Given the description of an element on the screen output the (x, y) to click on. 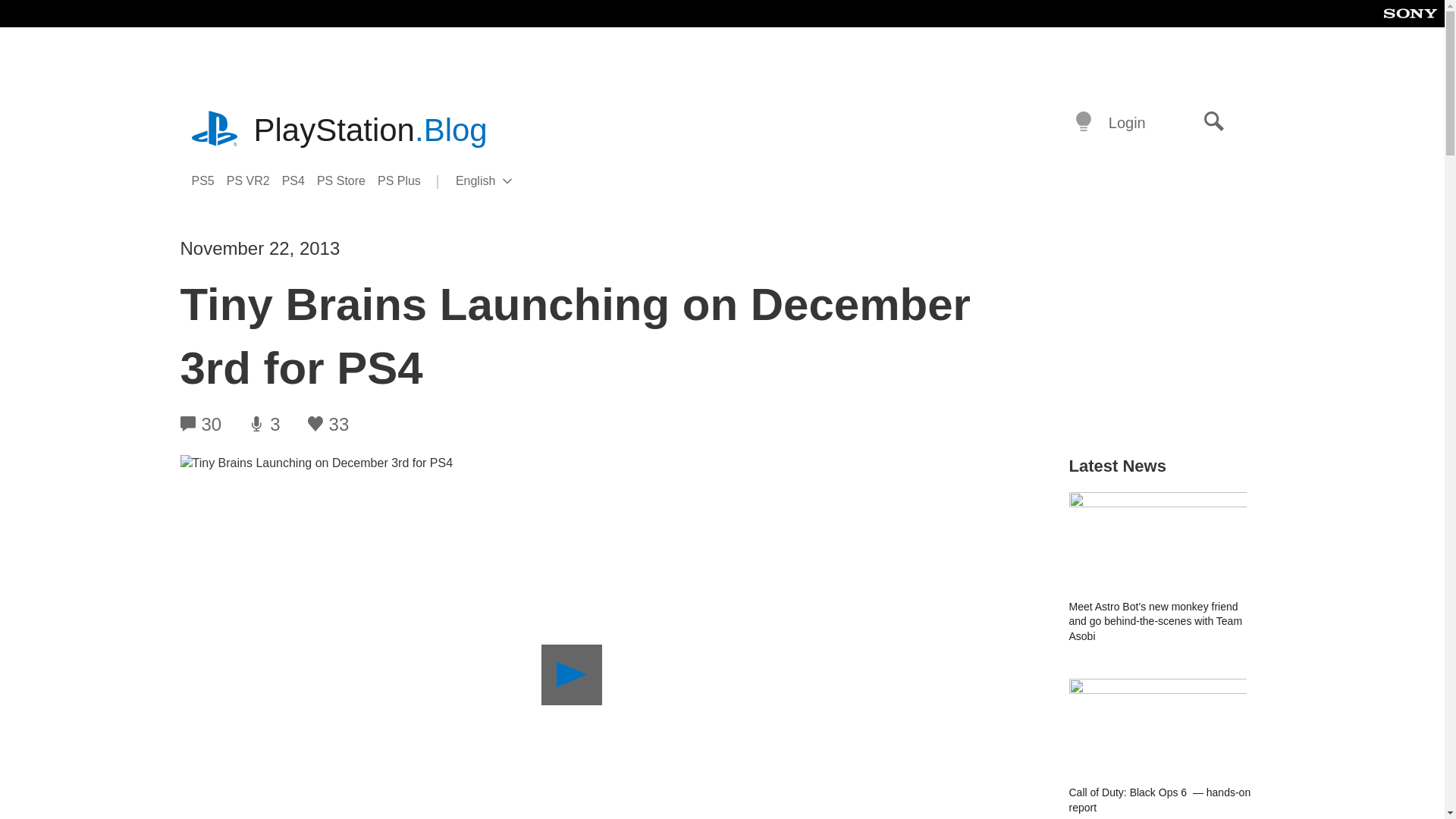
Login (1126, 121)
PS4 (299, 181)
PS Plus (404, 181)
PlayStation.Blog (369, 130)
PS5 (207, 181)
PS Store (508, 180)
Search (347, 181)
playstation.com (1214, 122)
